Given the description of an element on the screen output the (x, y) to click on. 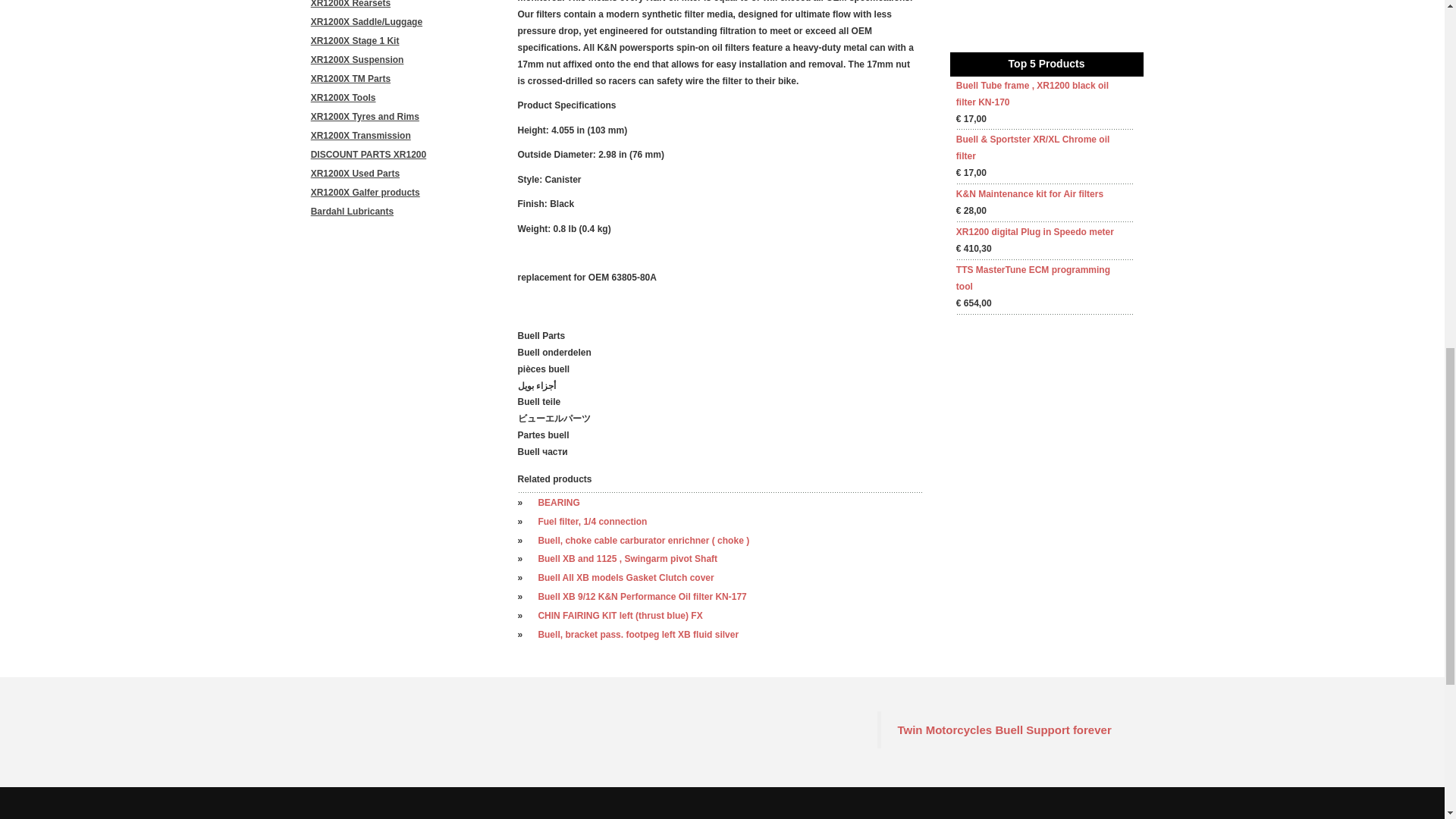
Buell, bracket pass. footpeg left XB fluid silver (637, 634)
BEARING (558, 502)
Buell XB and 1125 , Swingarm pivot Shaft (627, 558)
Buell All XB models Gasket Clutch cover (625, 577)
